Given the description of an element on the screen output the (x, y) to click on. 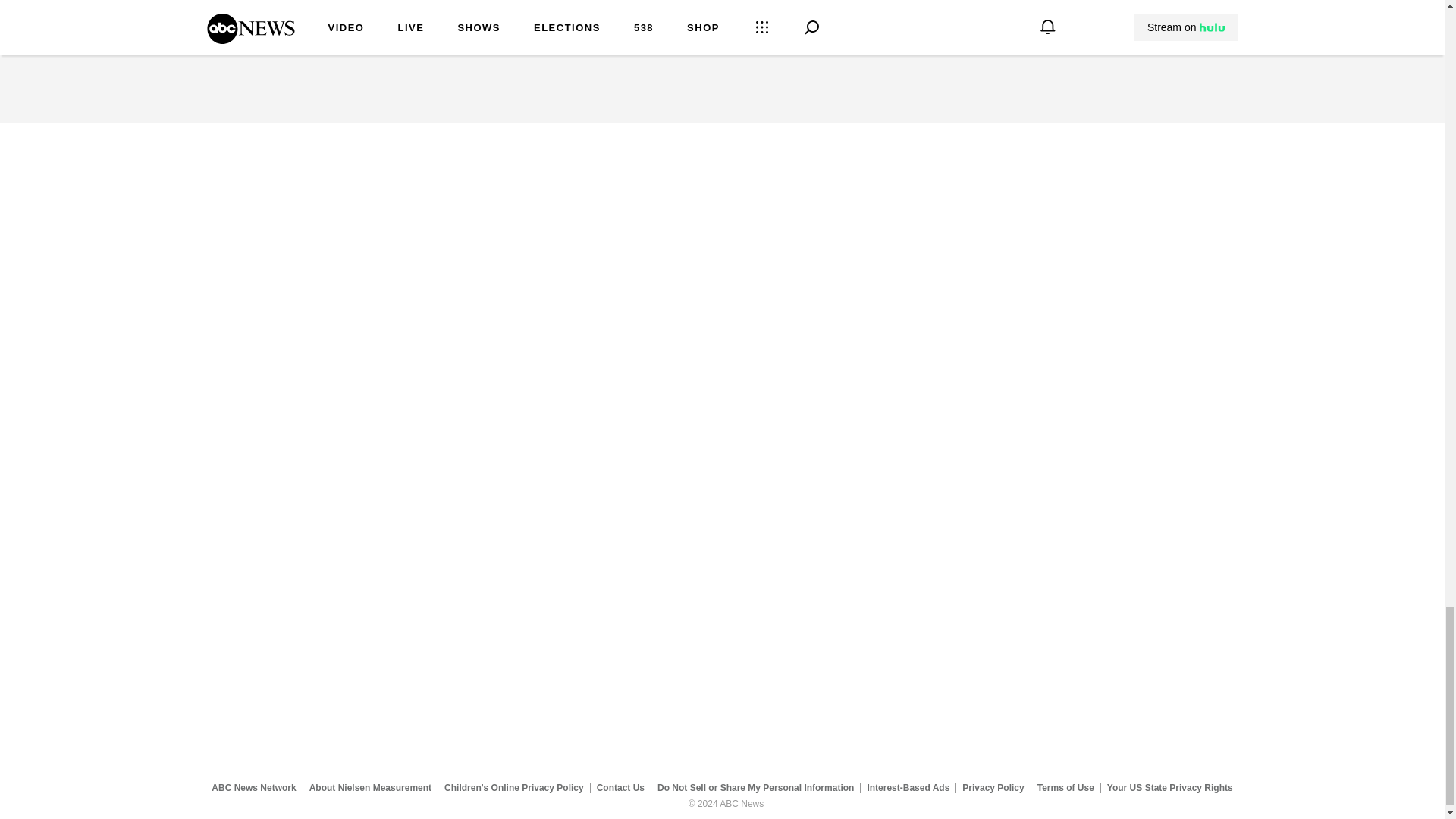
Children's Online Privacy Policy (514, 787)
Terms of Use (1065, 787)
Do Not Sell or Share My Personal Information (755, 787)
About Nielsen Measurement (370, 787)
ABC News Network (253, 787)
Contact Us (620, 787)
Your US State Privacy Rights (1169, 787)
Privacy Policy (993, 787)
Interest-Based Ads (908, 787)
